Given the description of an element on the screen output the (x, y) to click on. 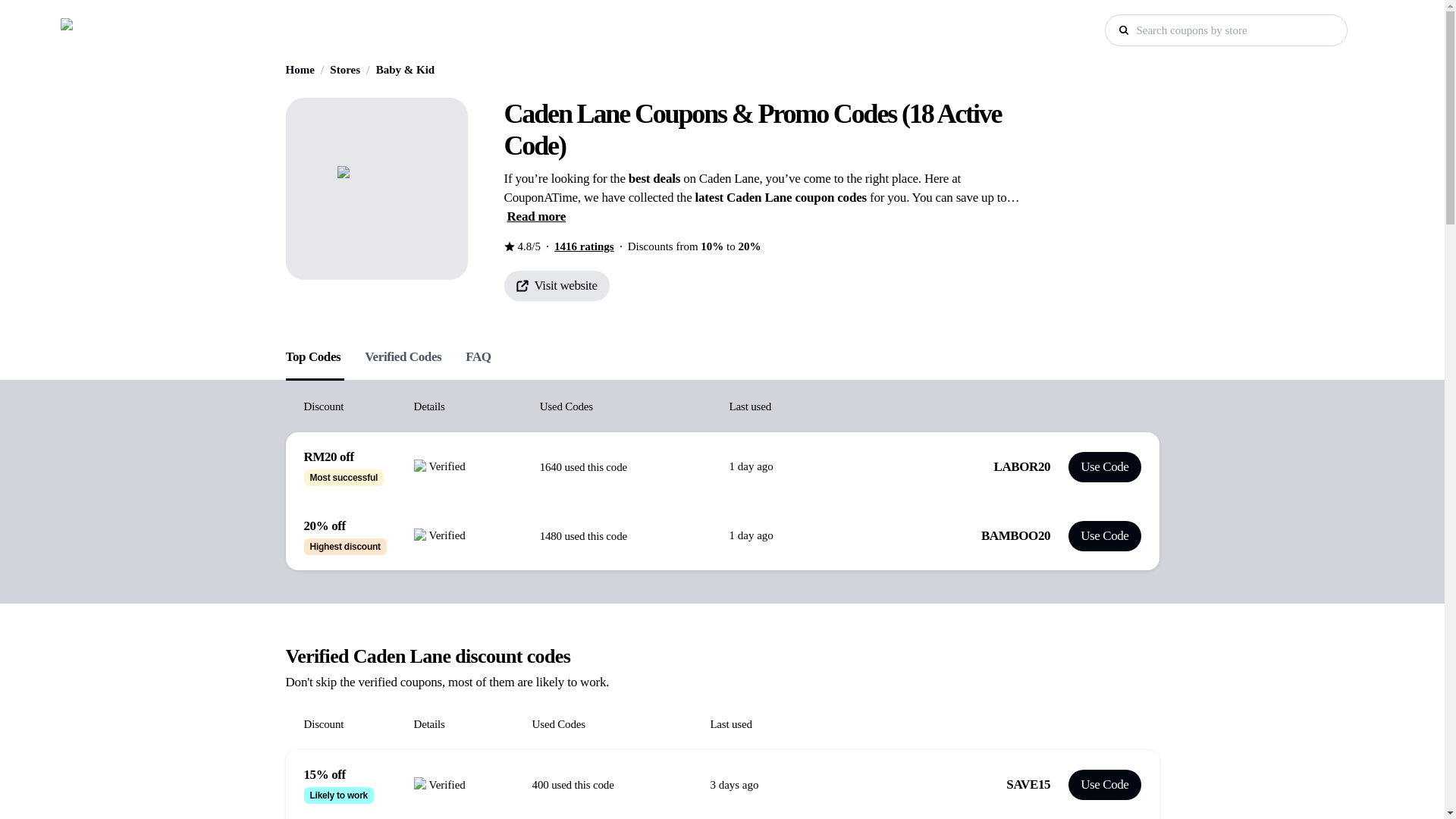
Home (299, 69)
Use Code (1104, 784)
1416 ratings (584, 245)
Verified Codes (403, 353)
Use Code (1104, 535)
FAQ (477, 353)
Stores (344, 69)
Top Codes (312, 353)
Visit website (555, 285)
Use Code (1104, 467)
